Given the description of an element on the screen output the (x, y) to click on. 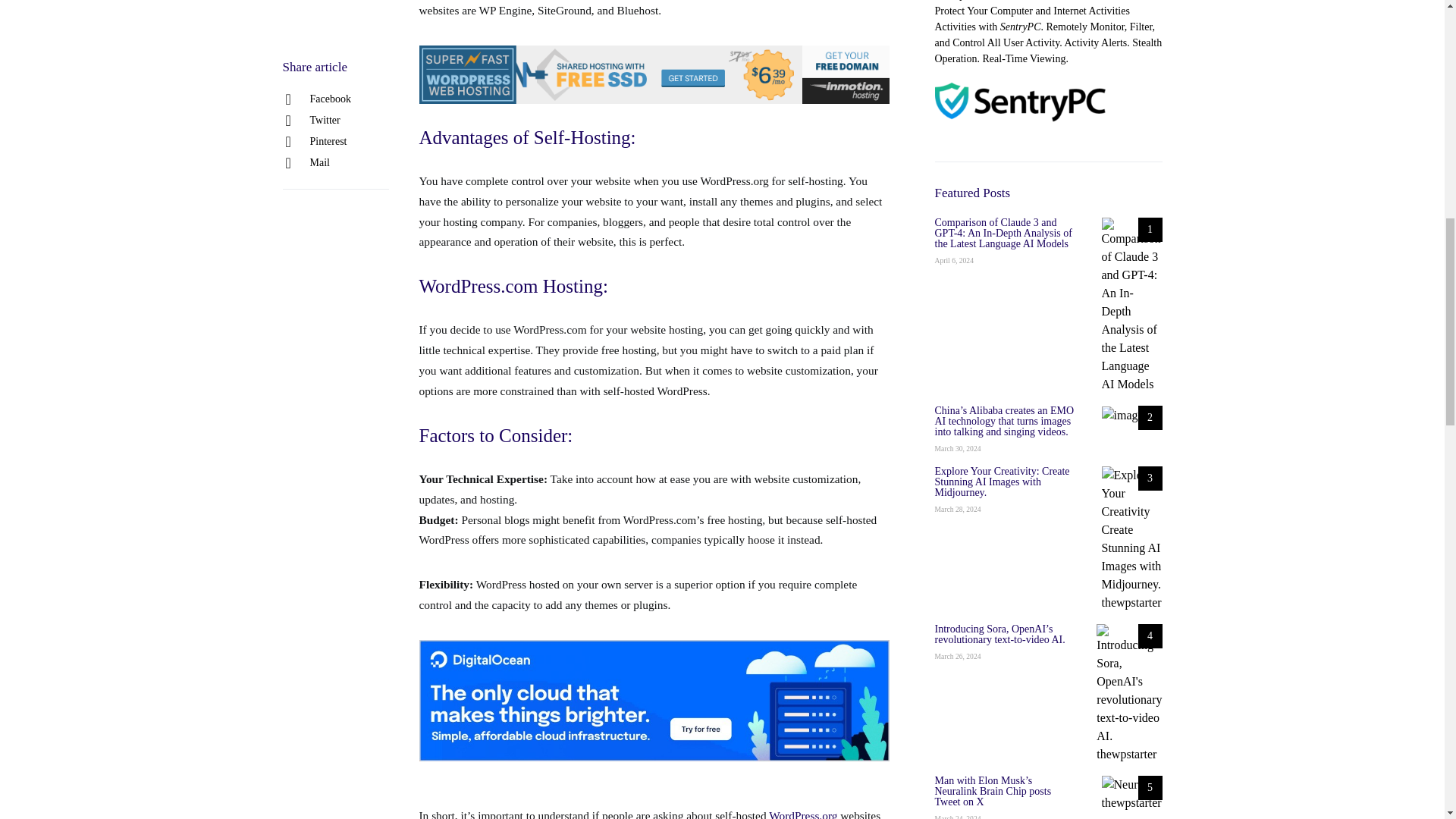
WordPress Beginner: Can WordPress host my website? 1 (653, 700)
